Given the description of an element on the screen output the (x, y) to click on. 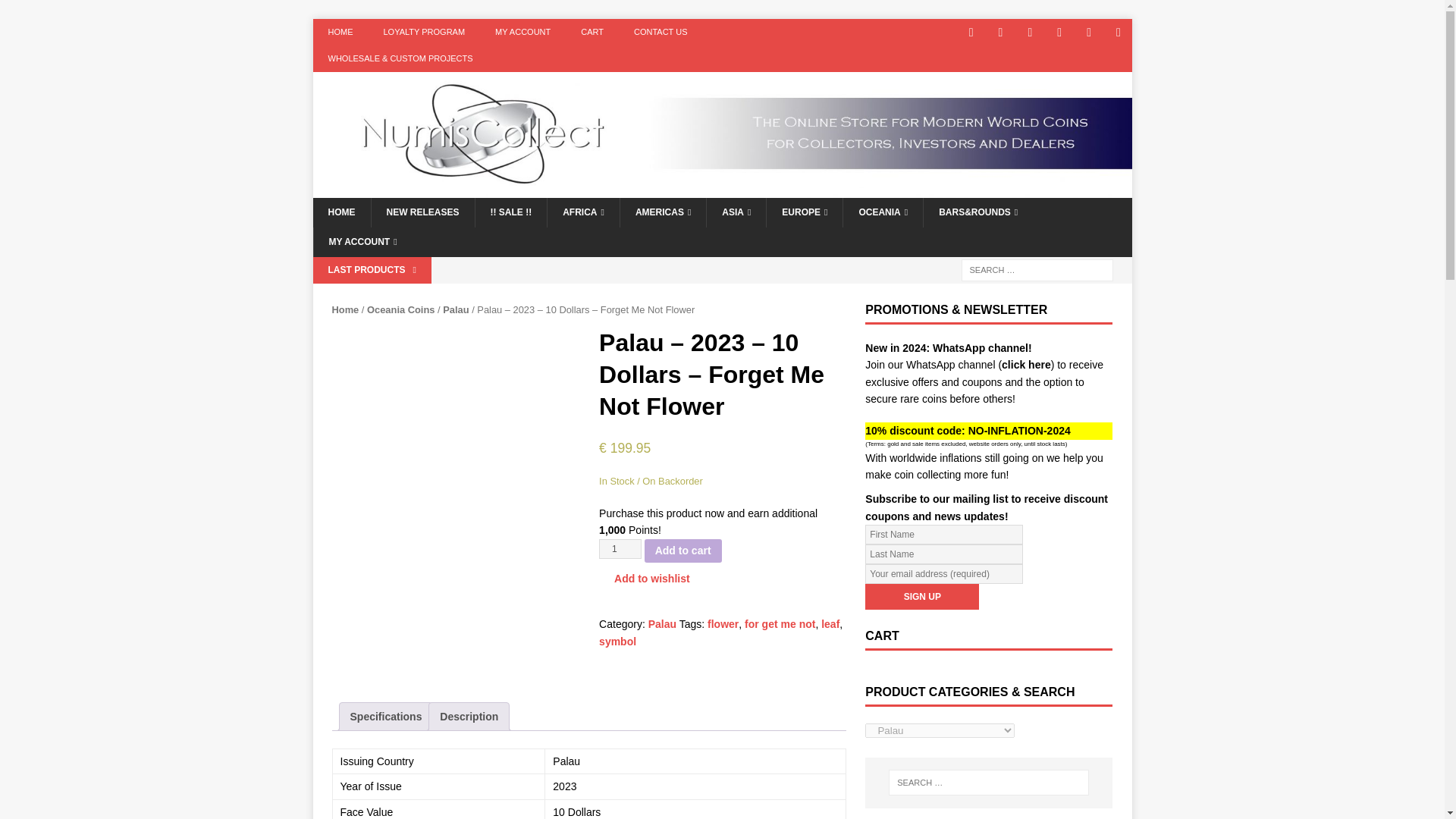
CART (592, 31)
!! SALE !! (510, 212)
NumisCollect (722, 188)
HOME (340, 31)
MY ACCOUNT (523, 31)
1 (620, 548)
HOME (341, 212)
The latest new releases (421, 212)
ASIA (735, 212)
Back to the homepage (341, 212)
